Given the description of an element on the screen output the (x, y) to click on. 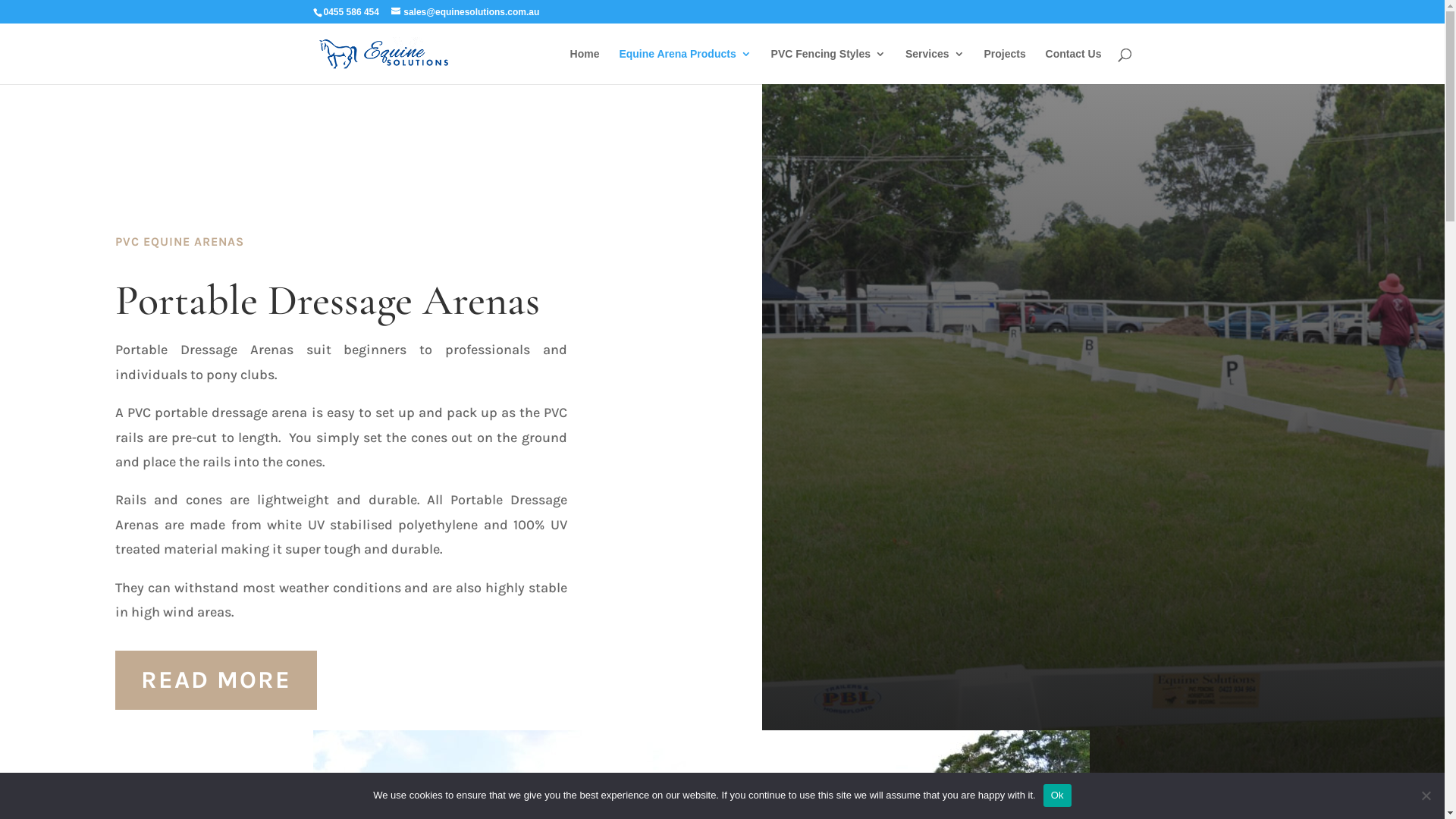
No Element type: hover (1425, 795)
Services Element type: text (934, 66)
Equine Arena Products Element type: text (684, 66)
PVC Fencing Styles Element type: text (828, 66)
READ MORE Element type: text (215, 679)
Projects Element type: text (1004, 66)
Home Element type: text (584, 66)
Contact Us Element type: text (1073, 66)
Ok Element type: text (1057, 795)
sales@equinesolutions.com.au Element type: text (465, 11)
